Given the description of an element on the screen output the (x, y) to click on. 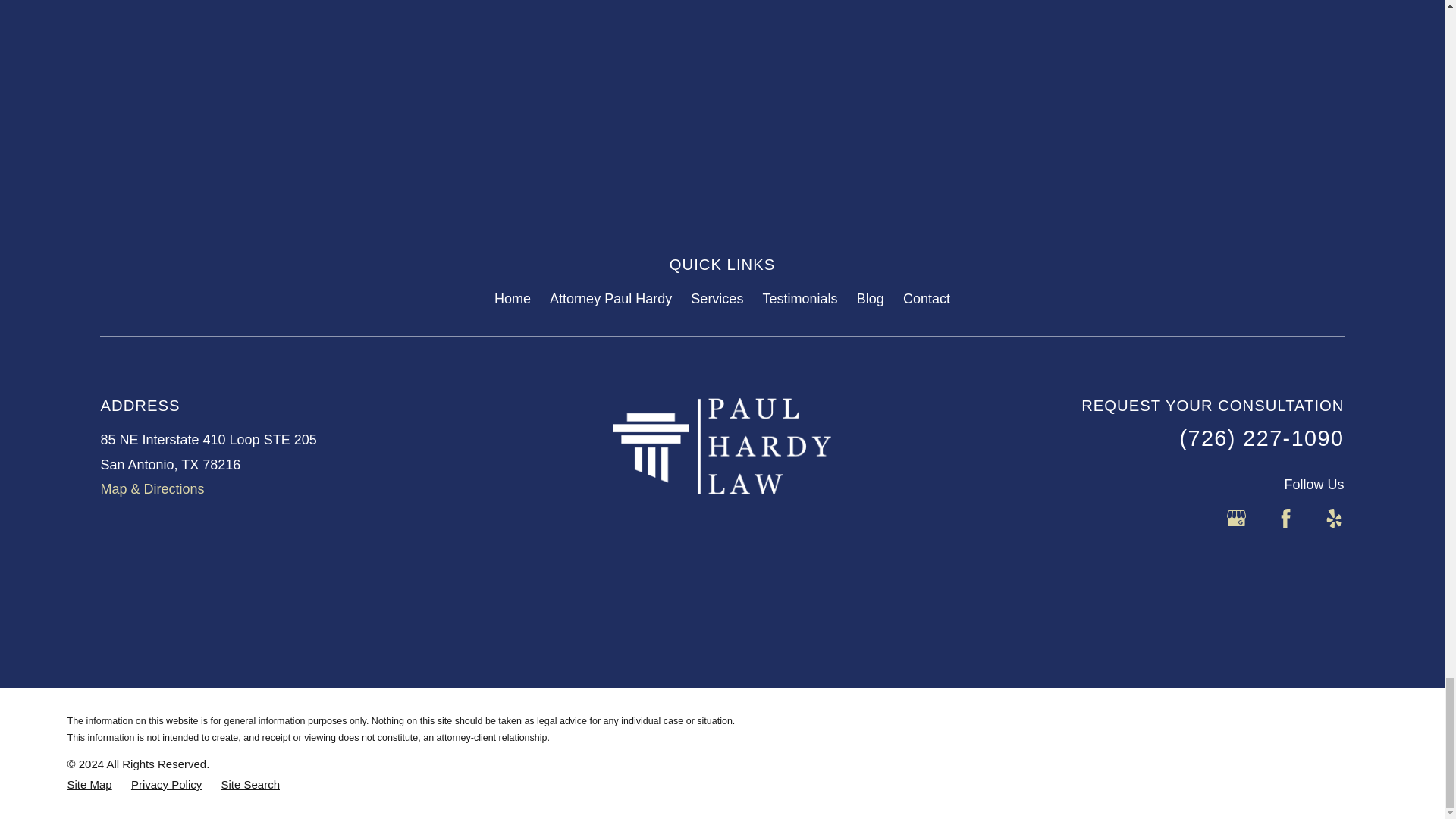
Google Business Profile (1236, 517)
Home (721, 446)
Facebook (1285, 517)
